Given the description of an element on the screen output the (x, y) to click on. 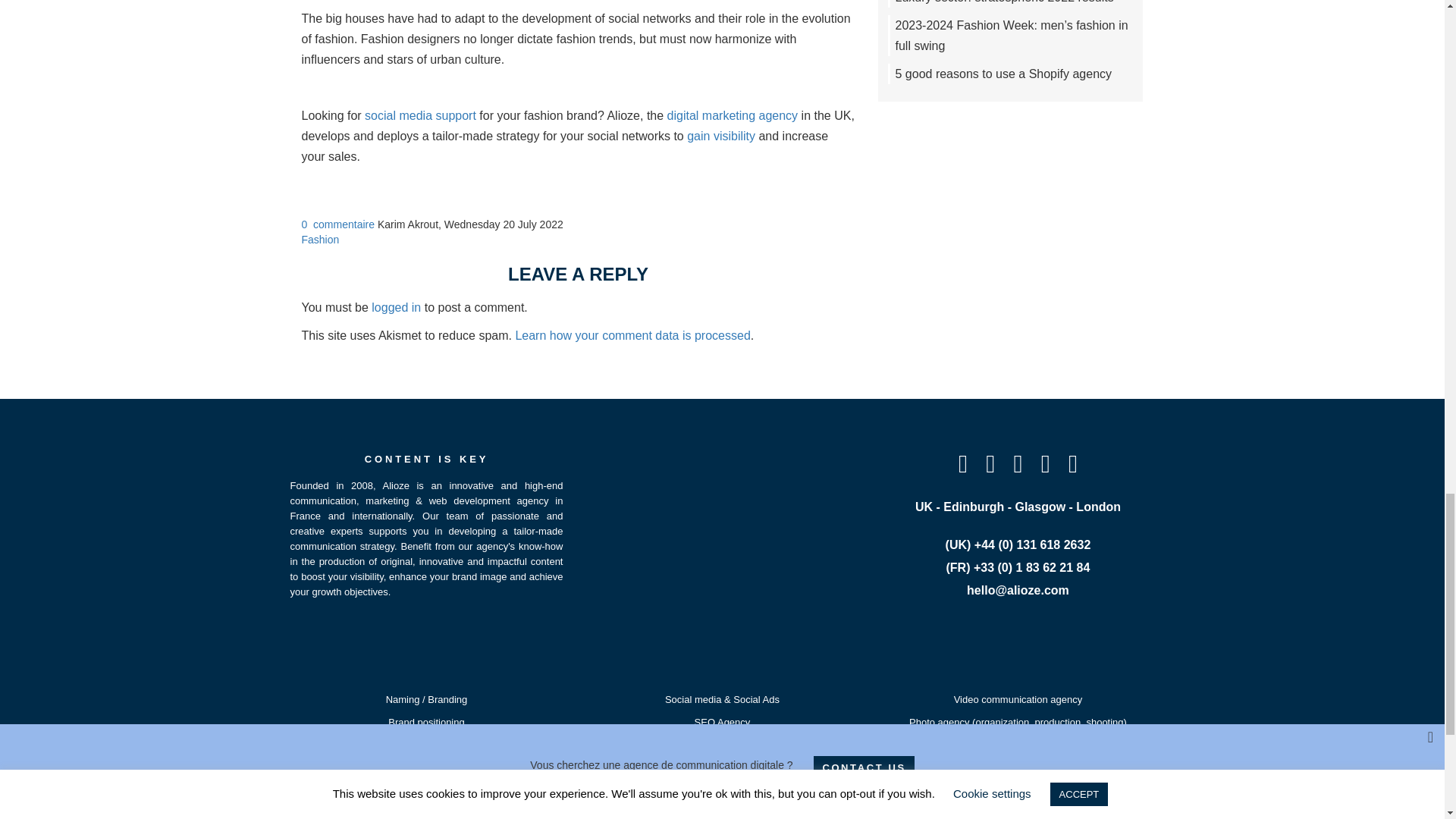
commentaire (343, 224)
Fashion (320, 239)
digital marketing agency (731, 115)
Learn how your comment data is processed (632, 335)
social media support (420, 115)
logged in (395, 307)
gain visibility (721, 135)
